Given the description of an element on the screen output the (x, y) to click on. 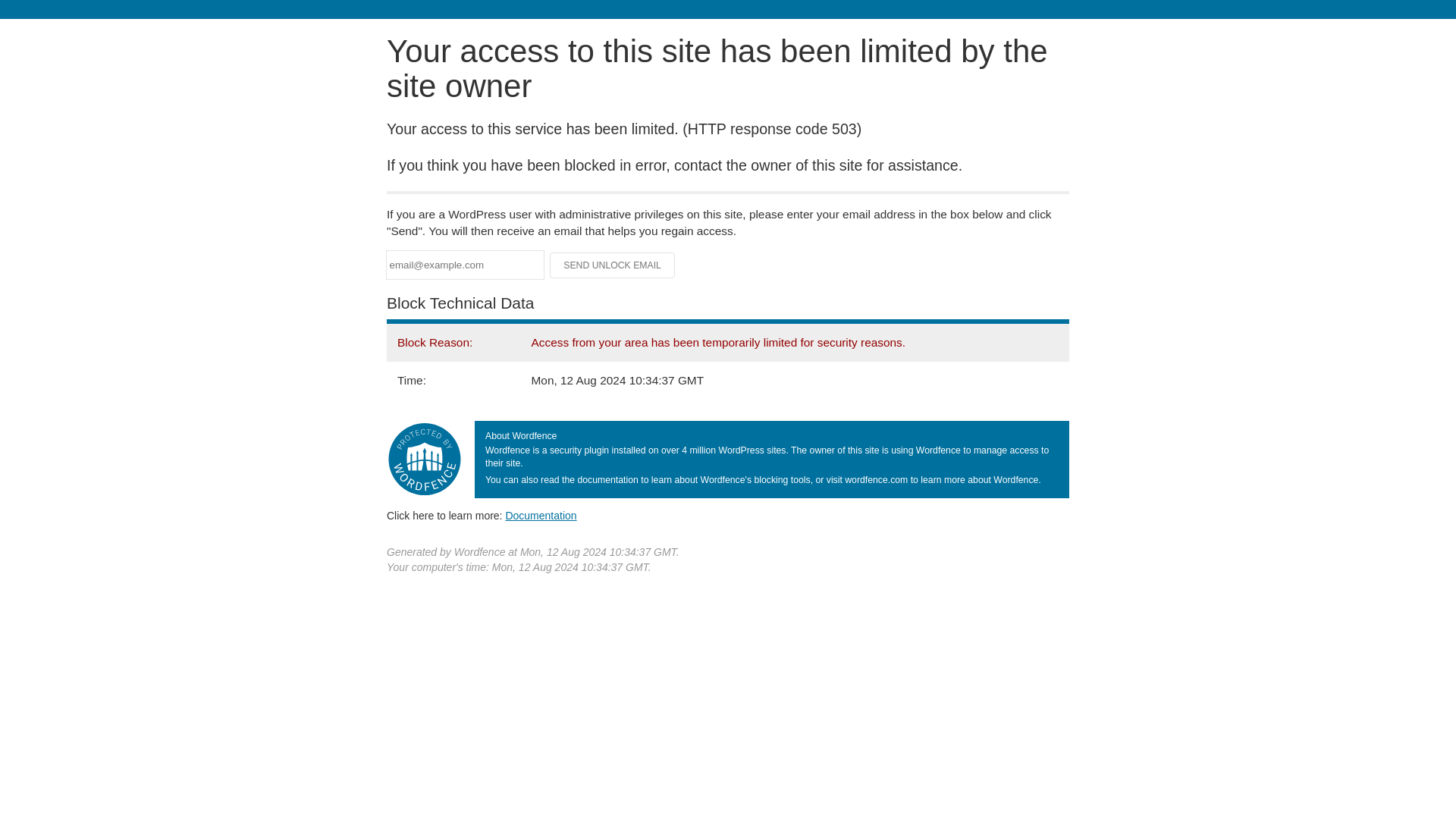
Send Unlock Email (612, 265)
Send Unlock Email (612, 265)
Documentation (540, 515)
